Given the description of an element on the screen output the (x, y) to click on. 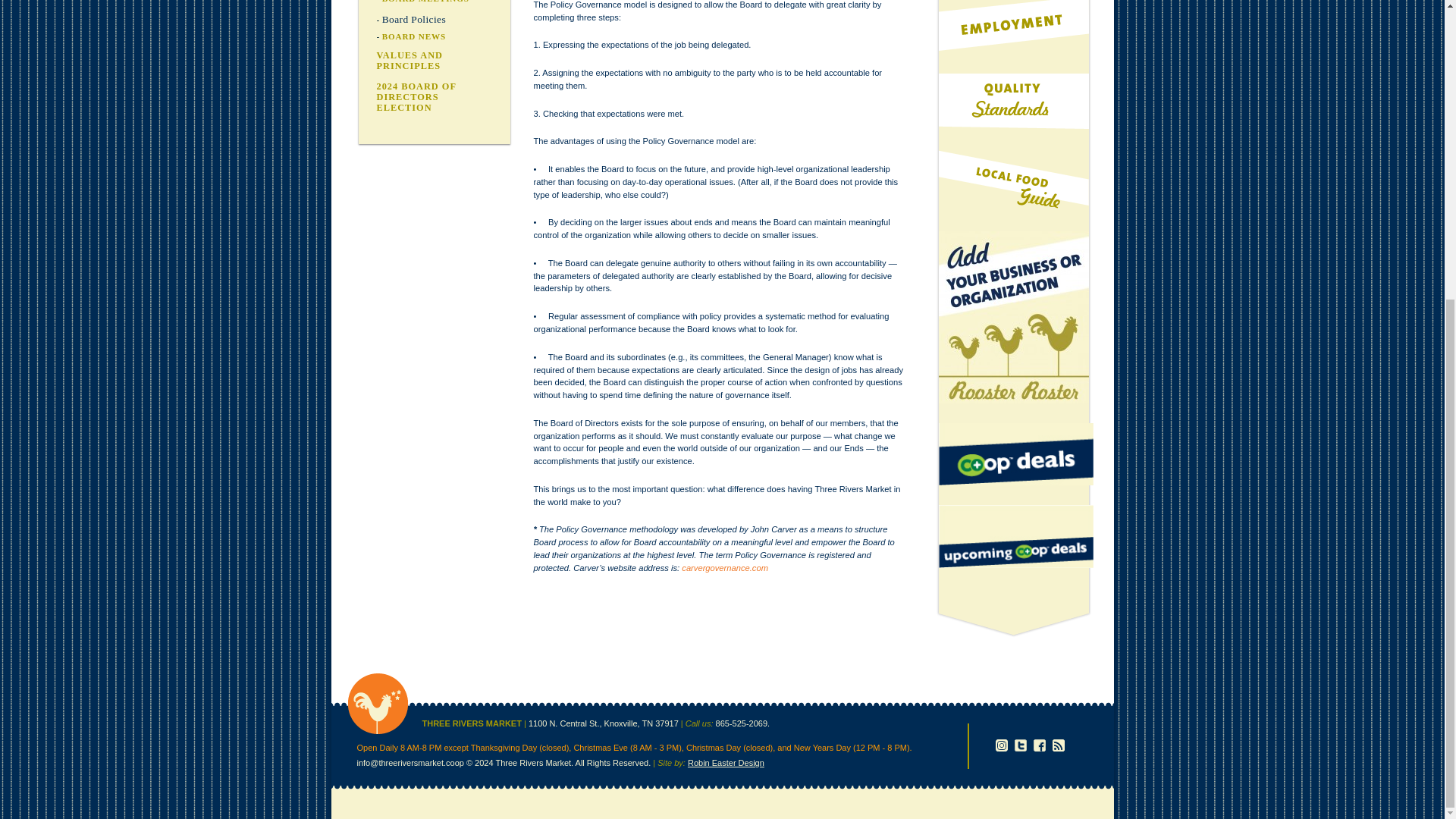
VALUES AND PRINCIPLES (408, 60)
Three Rivers Market (377, 731)
2024 BOARD OF DIRECTORS ELECTION (415, 97)
Carver Governance (724, 567)
Twitter (1020, 745)
Instagram (1001, 745)
BOARD MEETINGS (424, 1)
Board Policies (413, 19)
carvergovernance.com (724, 567)
RSS (1058, 745)
BOARD NEWS (413, 35)
Facebook (1039, 745)
